Given the description of an element on the screen output the (x, y) to click on. 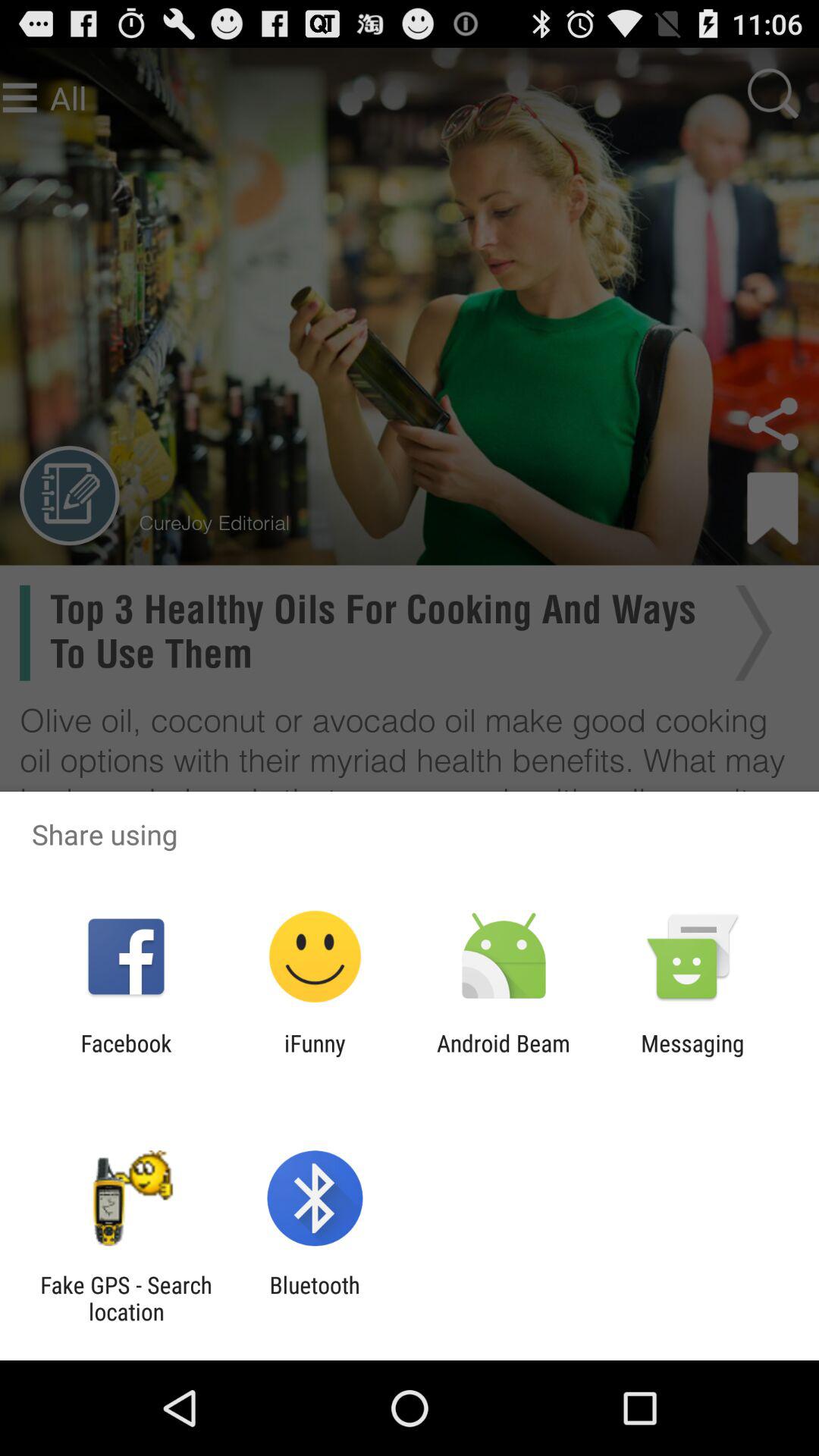
jump to the facebook app (125, 1056)
